Given the description of an element on the screen output the (x, y) to click on. 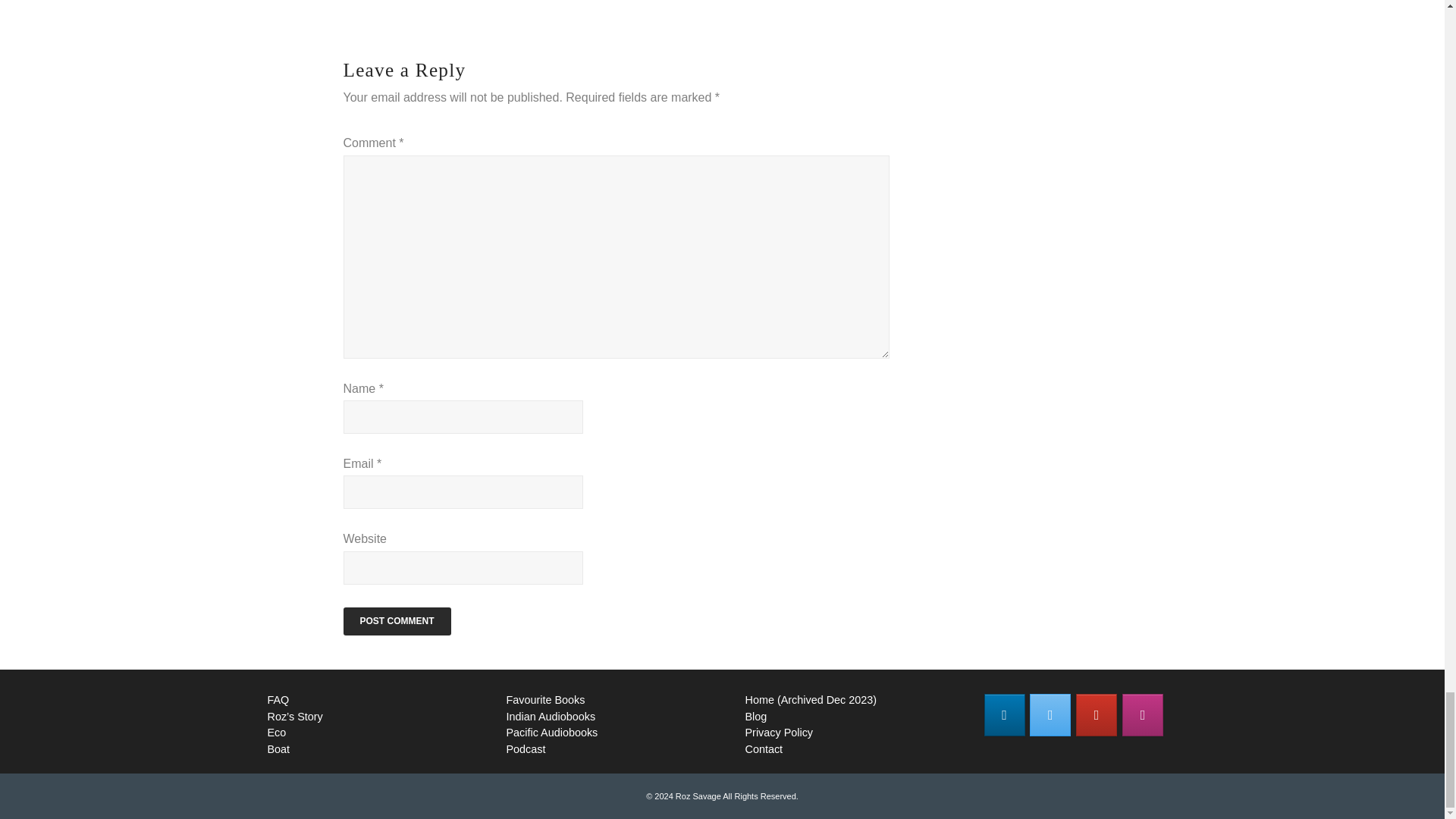
Roz Savage on Linkedin (1004, 714)
Roz Savage on X Twitter (1049, 714)
Roz Savage on Instagram (1142, 714)
Roz Savage on Youtube (1095, 714)
Post Comment (395, 621)
